Given the description of an element on the screen output the (x, y) to click on. 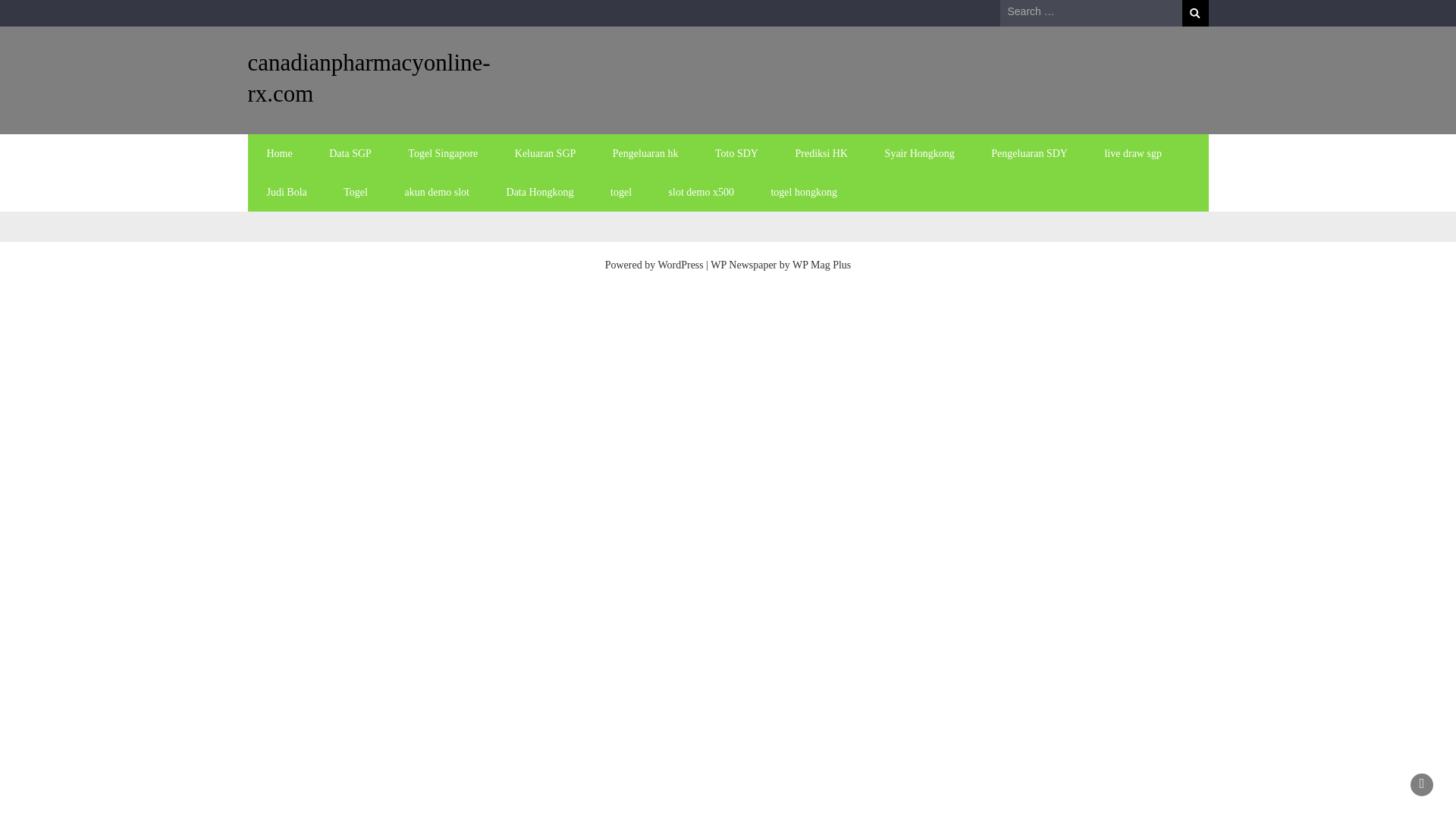
Syair Hongkong (919, 153)
Pengeluaran SDY (1029, 153)
canadianpharmacyonline-rx.com (368, 78)
Home (279, 153)
akun demo slot (436, 191)
Data SGP (350, 153)
WordPress (680, 265)
Judi Bola (286, 191)
Togel (355, 191)
togel (620, 191)
